Given the description of an element on the screen output the (x, y) to click on. 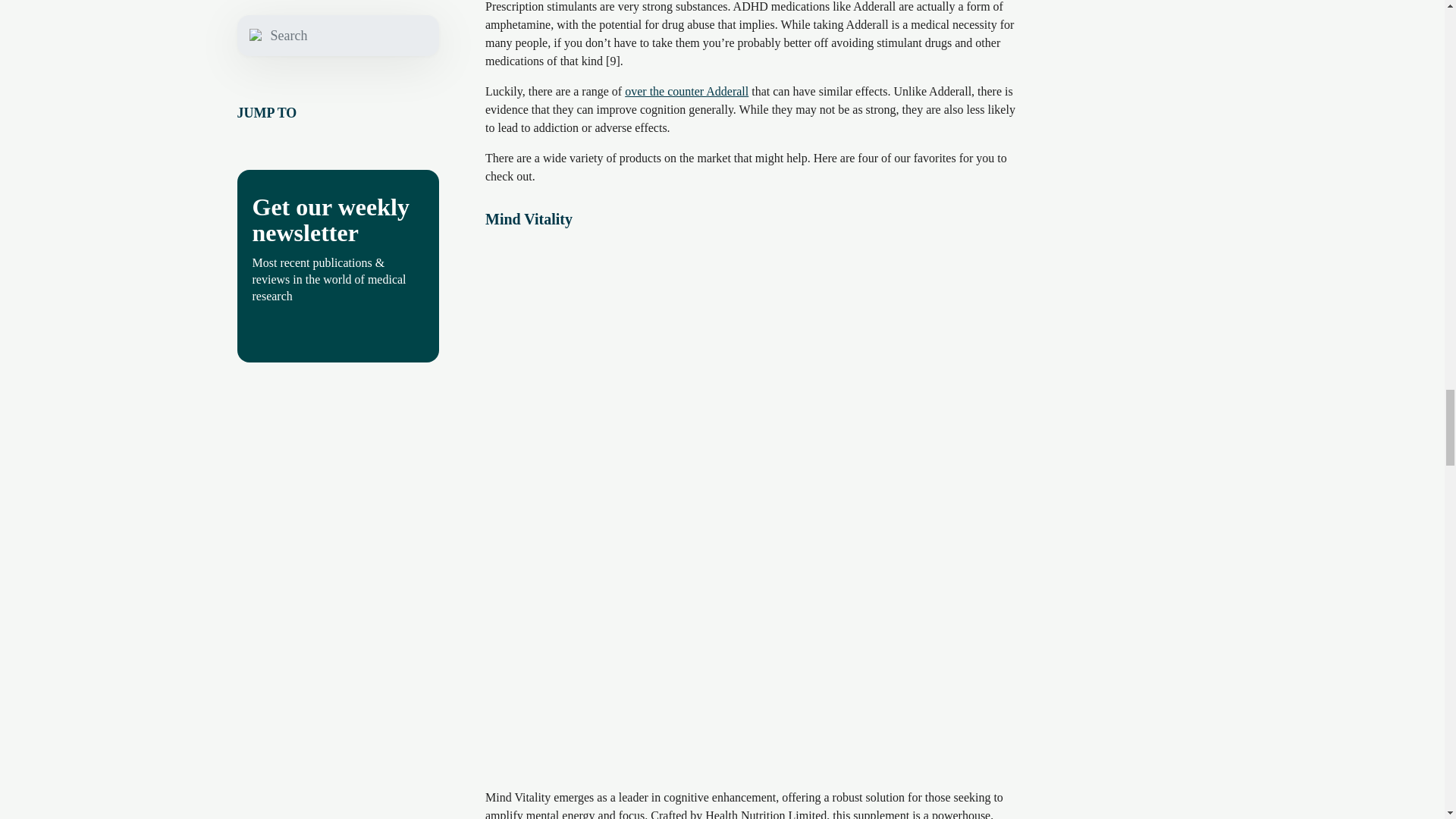
Mind Vitality (528, 219)
over the counter Adderall (686, 91)
